Given the description of an element on the screen output the (x, y) to click on. 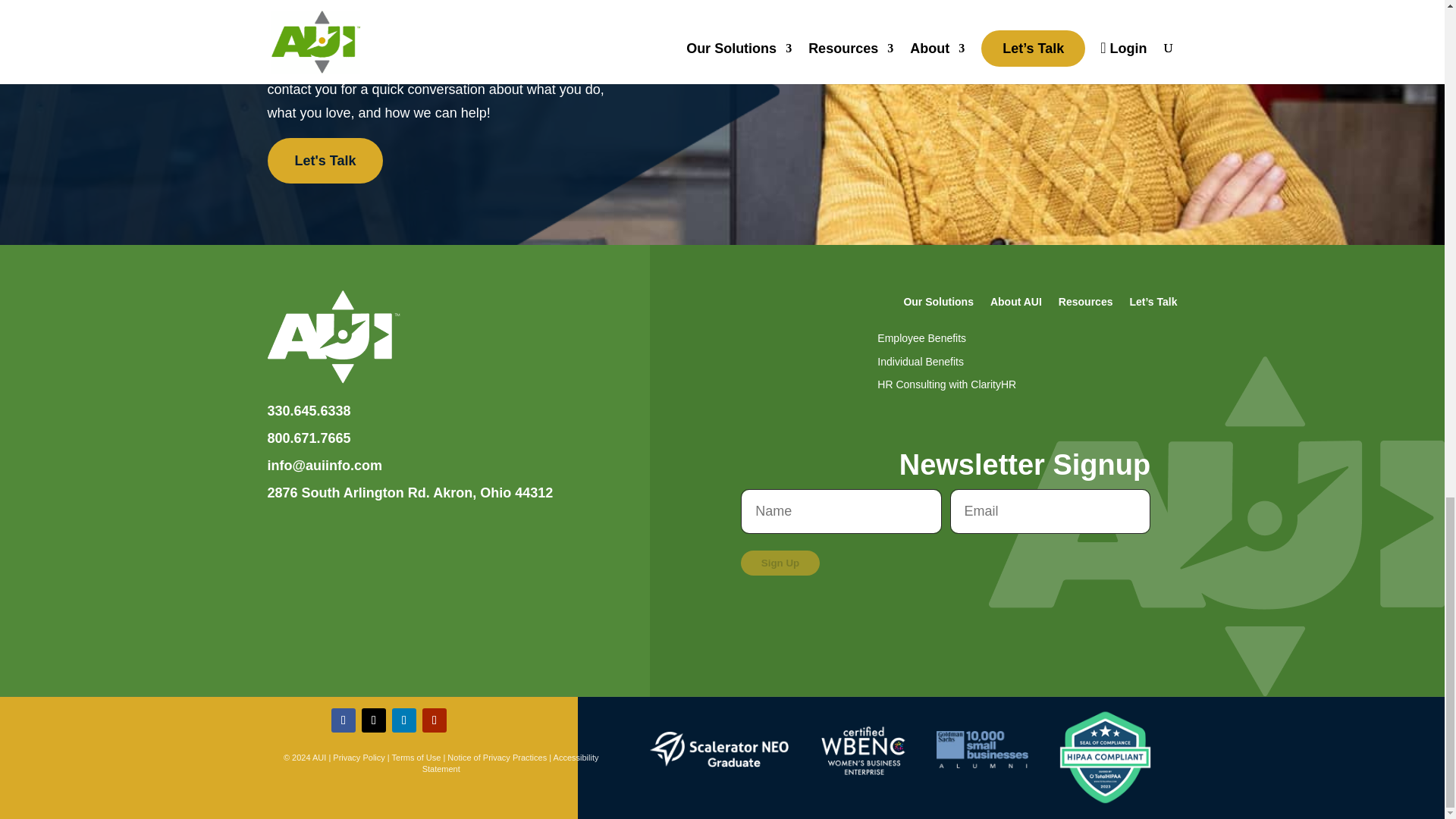
Goldman 1 (981, 749)
Follow on LinkedIn (403, 720)
Group 6 (332, 337)
Sign Up (780, 563)
Group 7 (864, 748)
Follow on X (373, 720)
Group 8 (719, 749)
Follow on Youtube (434, 720)
Follow on Facebook (343, 720)
